Given the description of an element on the screen output the (x, y) to click on. 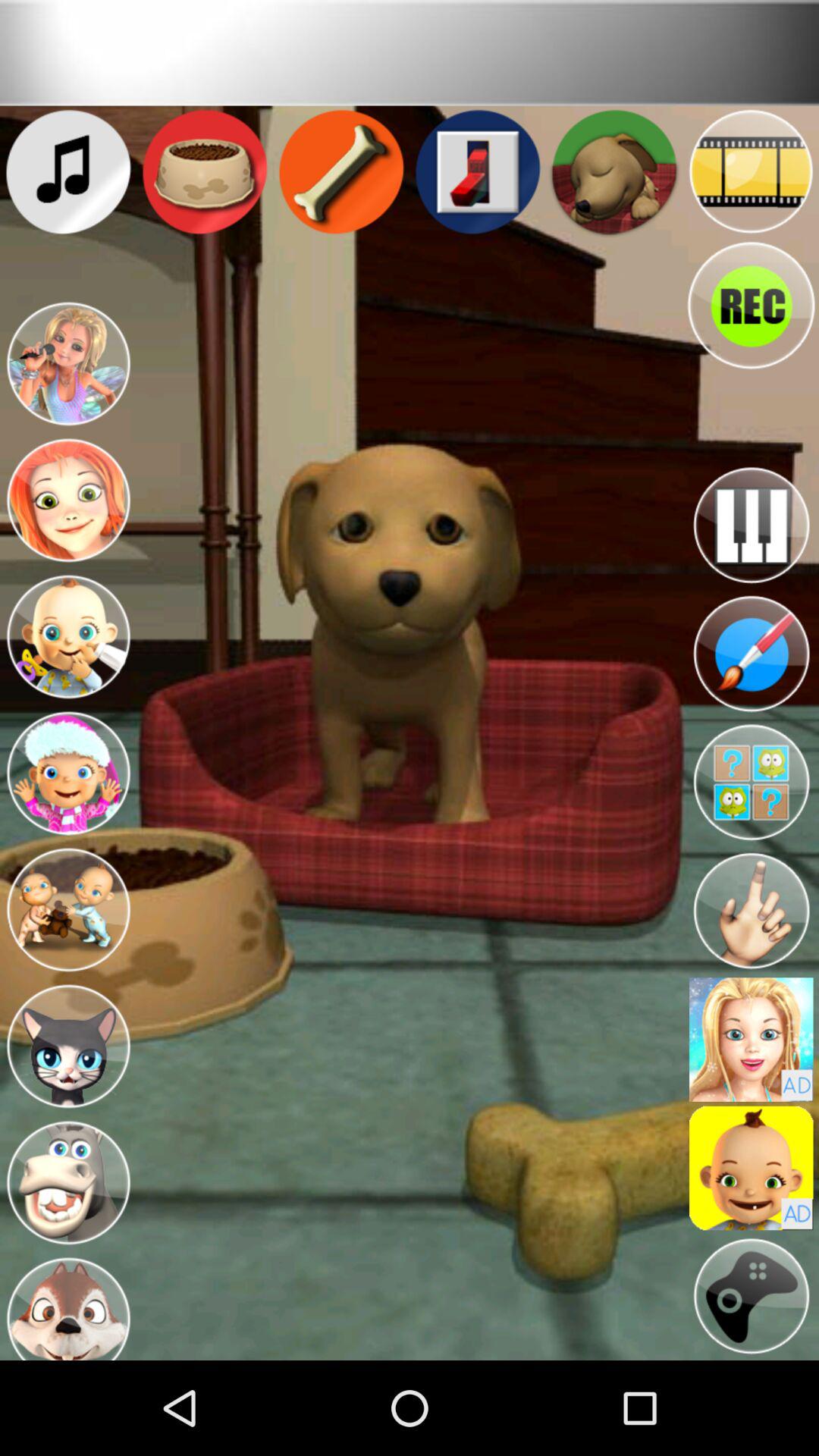
play a game (751, 1296)
